Given the description of an element on the screen output the (x, y) to click on. 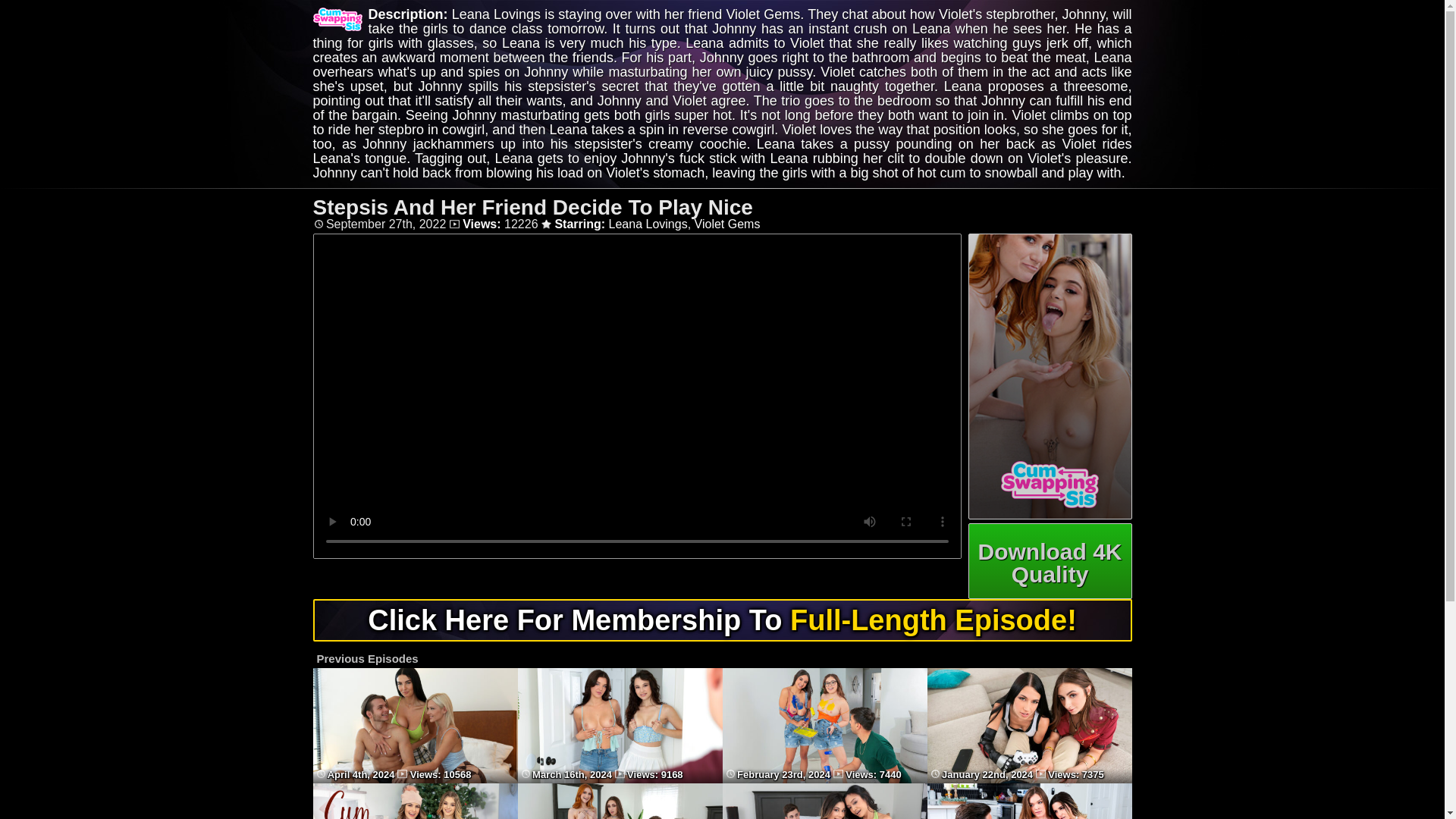
Download 4K Quality (1049, 560)
Violet Gems (727, 223)
Stepsis Gets A Fresh Coat (824, 779)
Click Here For Membership To Full-Length Episode! (722, 619)
Our Fantasy Date (1028, 779)
Leana Lovings (647, 223)
Making Stepbro Rise And Shine (414, 779)
Click Here For Membership To Full-Length Episode! (722, 625)
Giving Stepbro Something To Do (619, 779)
